Given the description of an element on the screen output the (x, y) to click on. 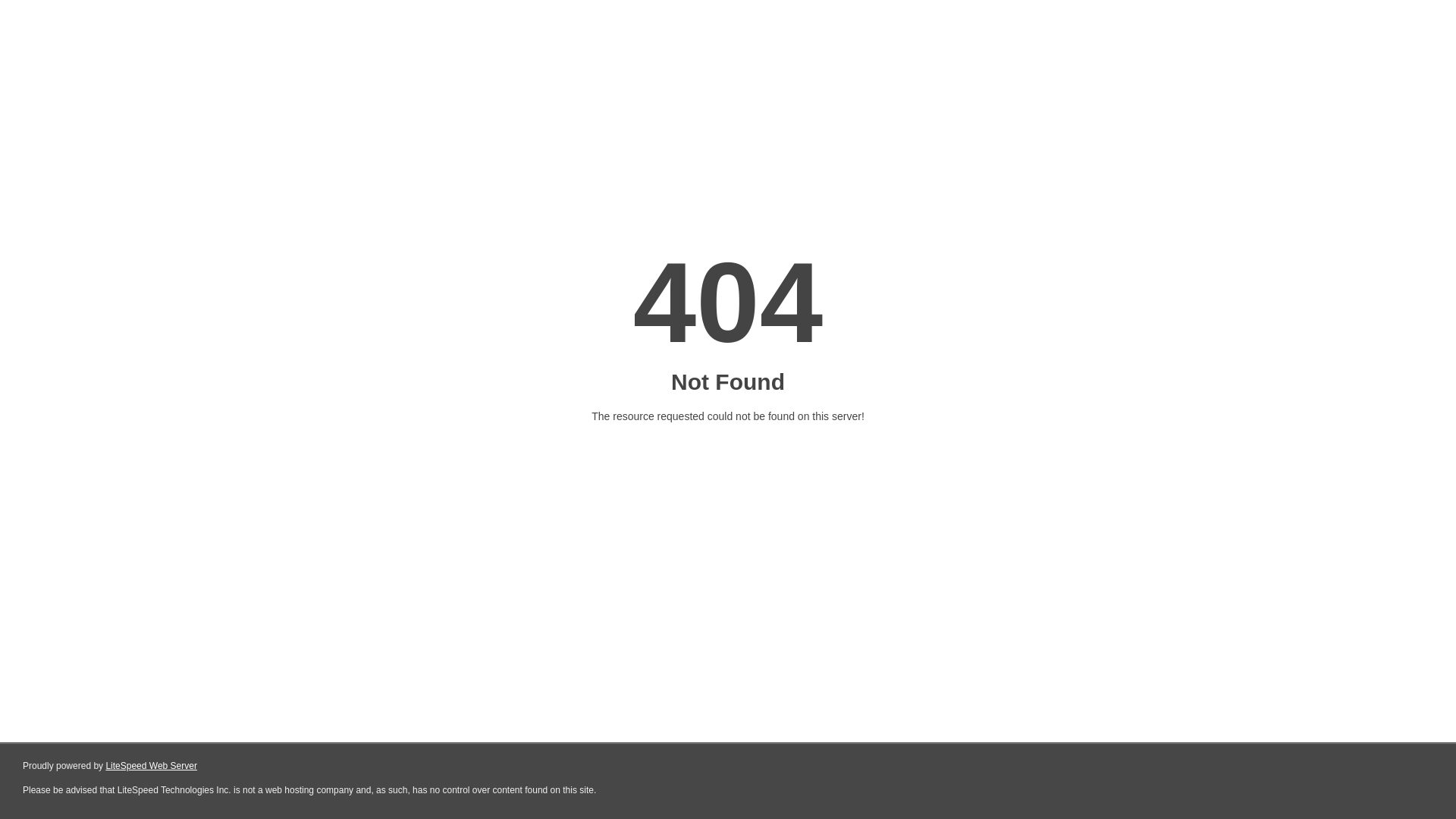
LiteSpeed Web Server Element type: text (151, 765)
